Given the description of an element on the screen output the (x, y) to click on. 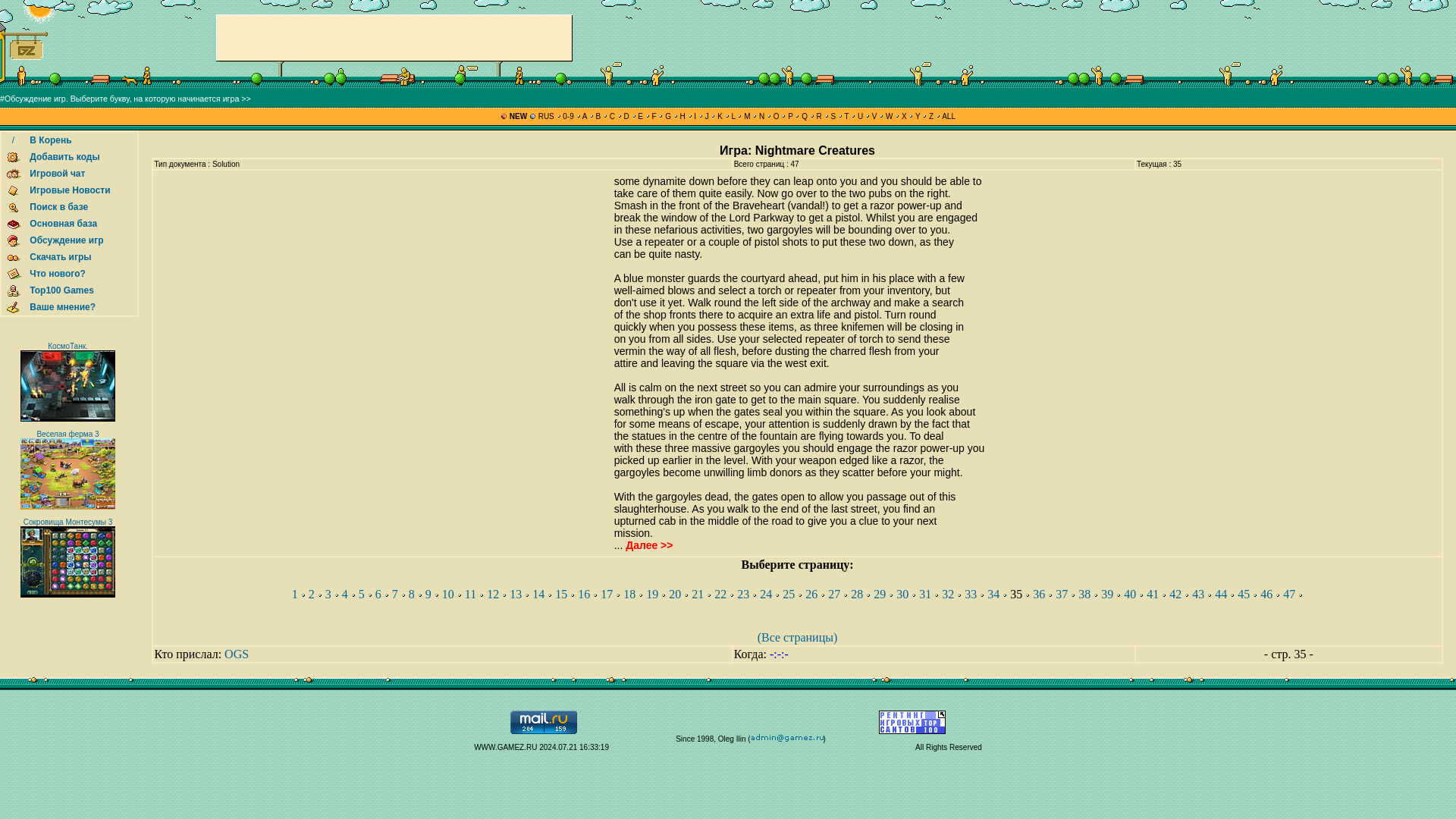
G (667, 116)
J (707, 116)
T (846, 116)
C (612, 116)
Z (931, 116)
D (626, 116)
H (682, 116)
NEW (517, 116)
E (639, 116)
P (790, 116)
S (833, 116)
A (584, 116)
F (654, 116)
RUS (545, 116)
ALL (947, 116)
